Given the description of an element on the screen output the (x, y) to click on. 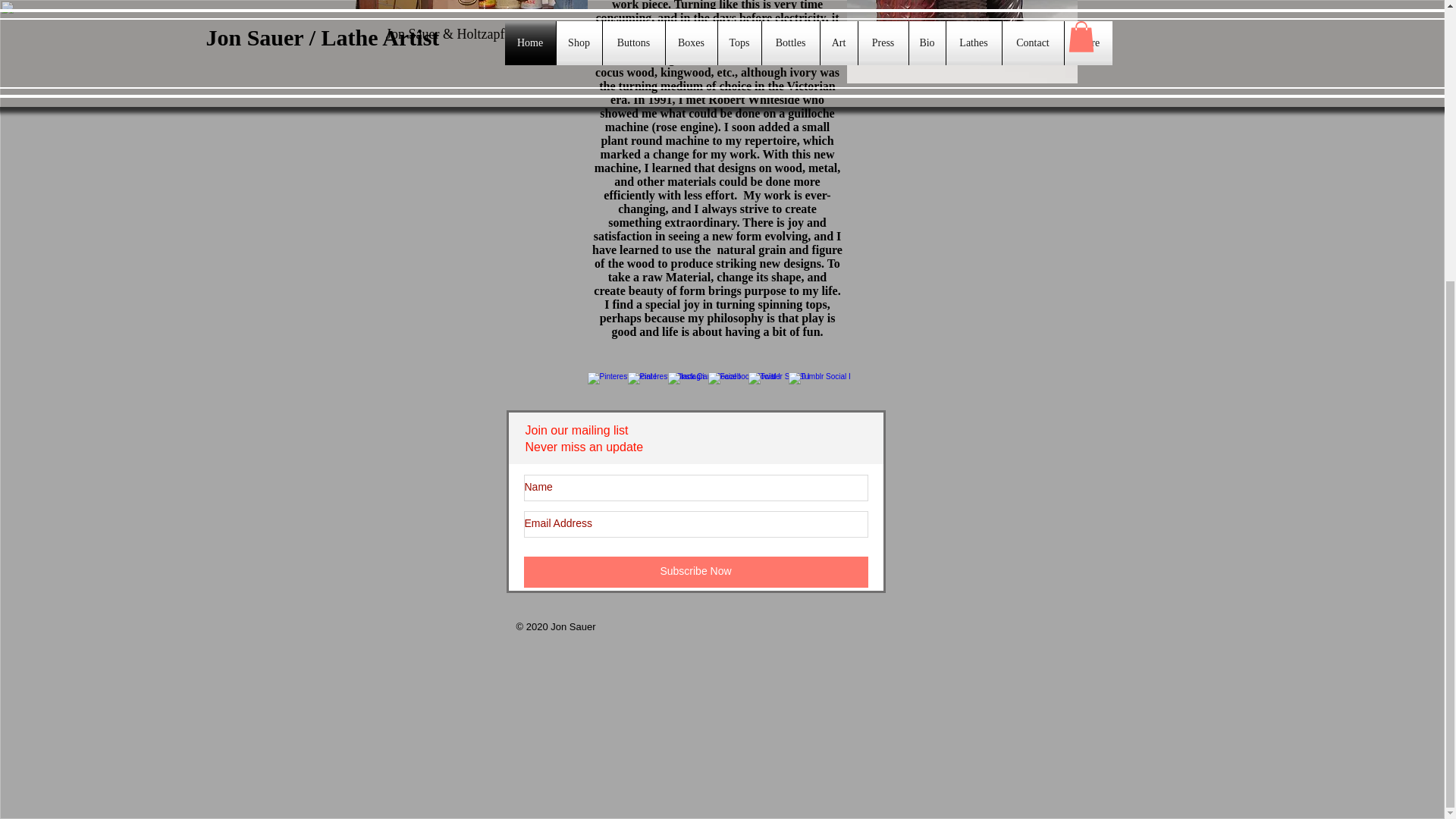
Subscribe Now (694, 572)
Holtzapffel (470, 4)
Ornamental turnings done on the Holtzapffel Lathe (961, 41)
